Given the description of an element on the screen output the (x, y) to click on. 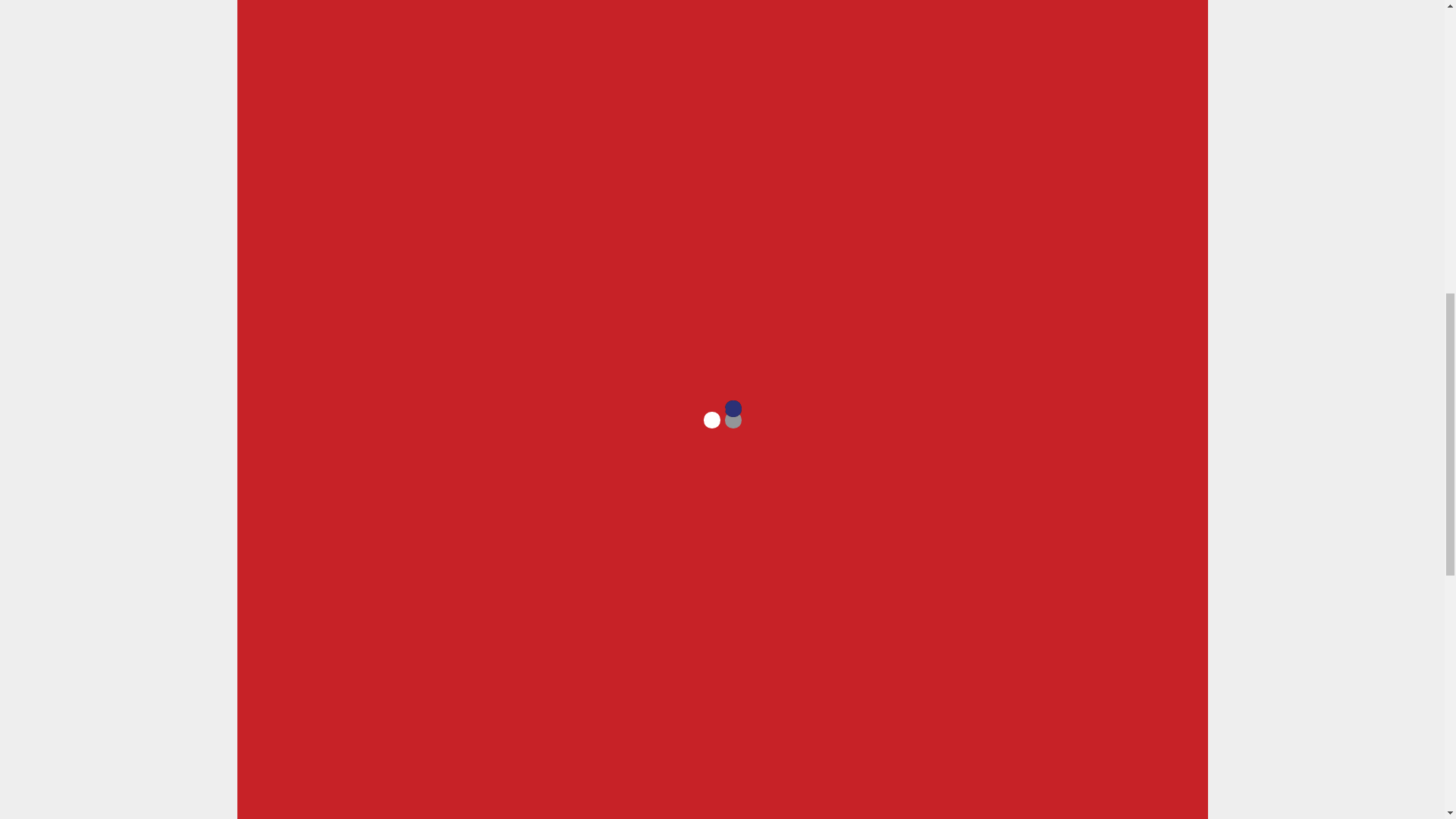
protect voting rights (489, 220)
the Politicon Merch Store (542, 28)
halloween with your pets (508, 285)
